Given the description of an element on the screen output the (x, y) to click on. 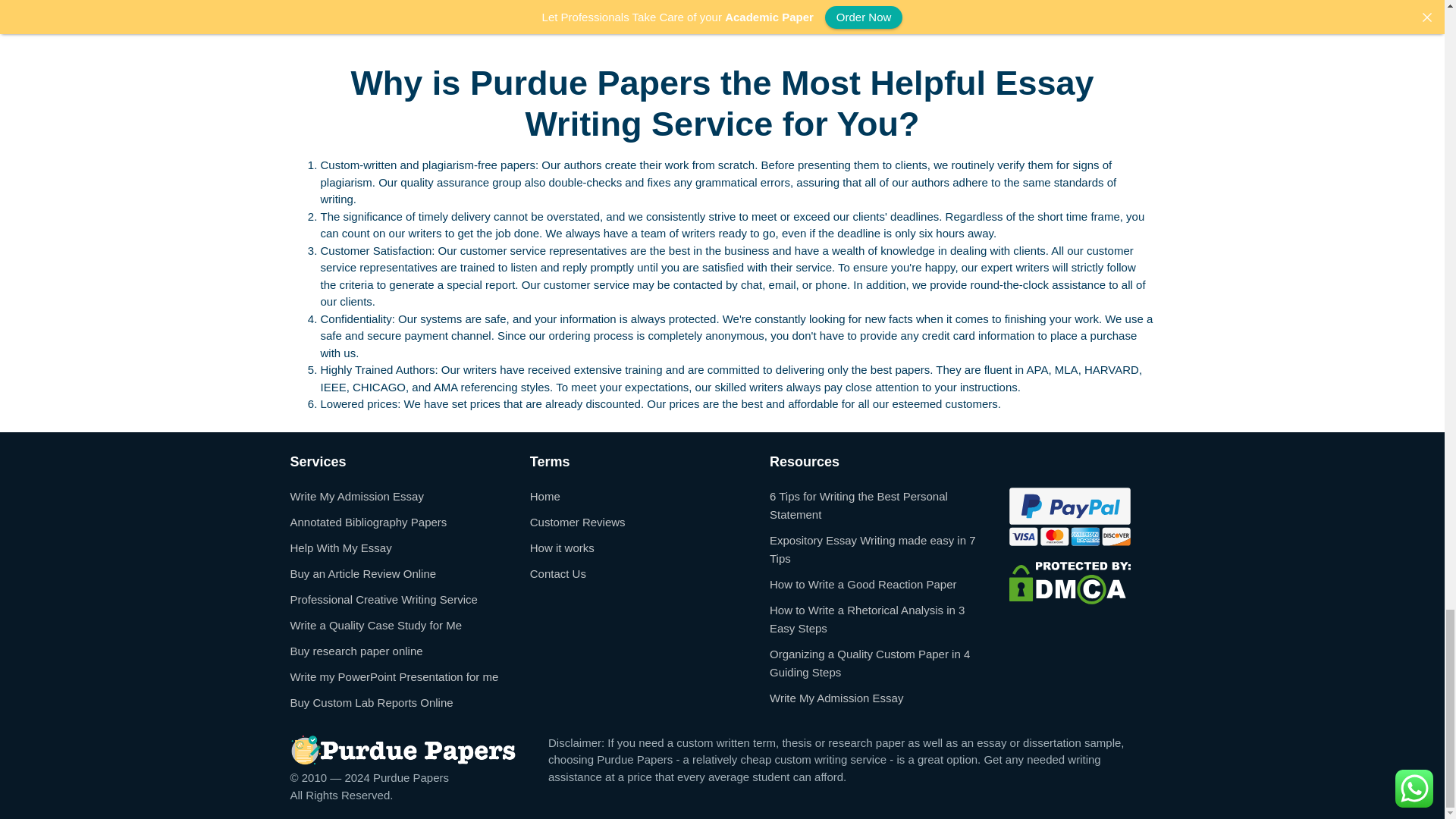
Read more (329, 12)
Annotated Bibliography Papers (367, 521)
Write My Admission Essay (356, 495)
Help With My Essay (340, 546)
Buy an Article Review Online (362, 572)
Read more (629, 12)
DMCA (1070, 581)
